Given the description of an element on the screen output the (x, y) to click on. 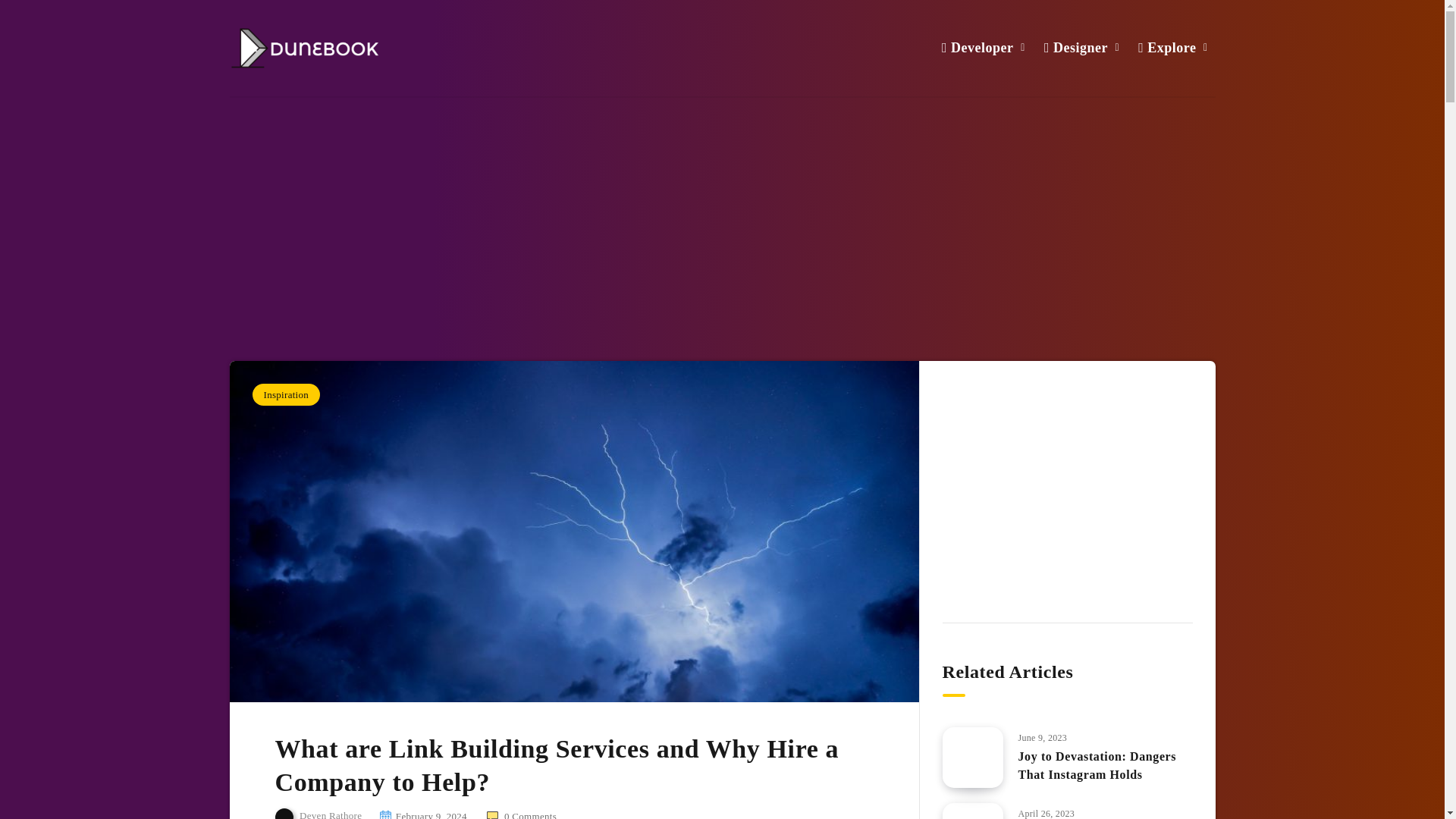
Designer (1075, 47)
Developer (977, 47)
Deven Rathore (318, 812)
0 Comments (521, 814)
Go to comments (521, 814)
Deven Rathore (318, 812)
Explore (1166, 47)
Inspiration (285, 394)
